Given the description of an element on the screen output the (x, y) to click on. 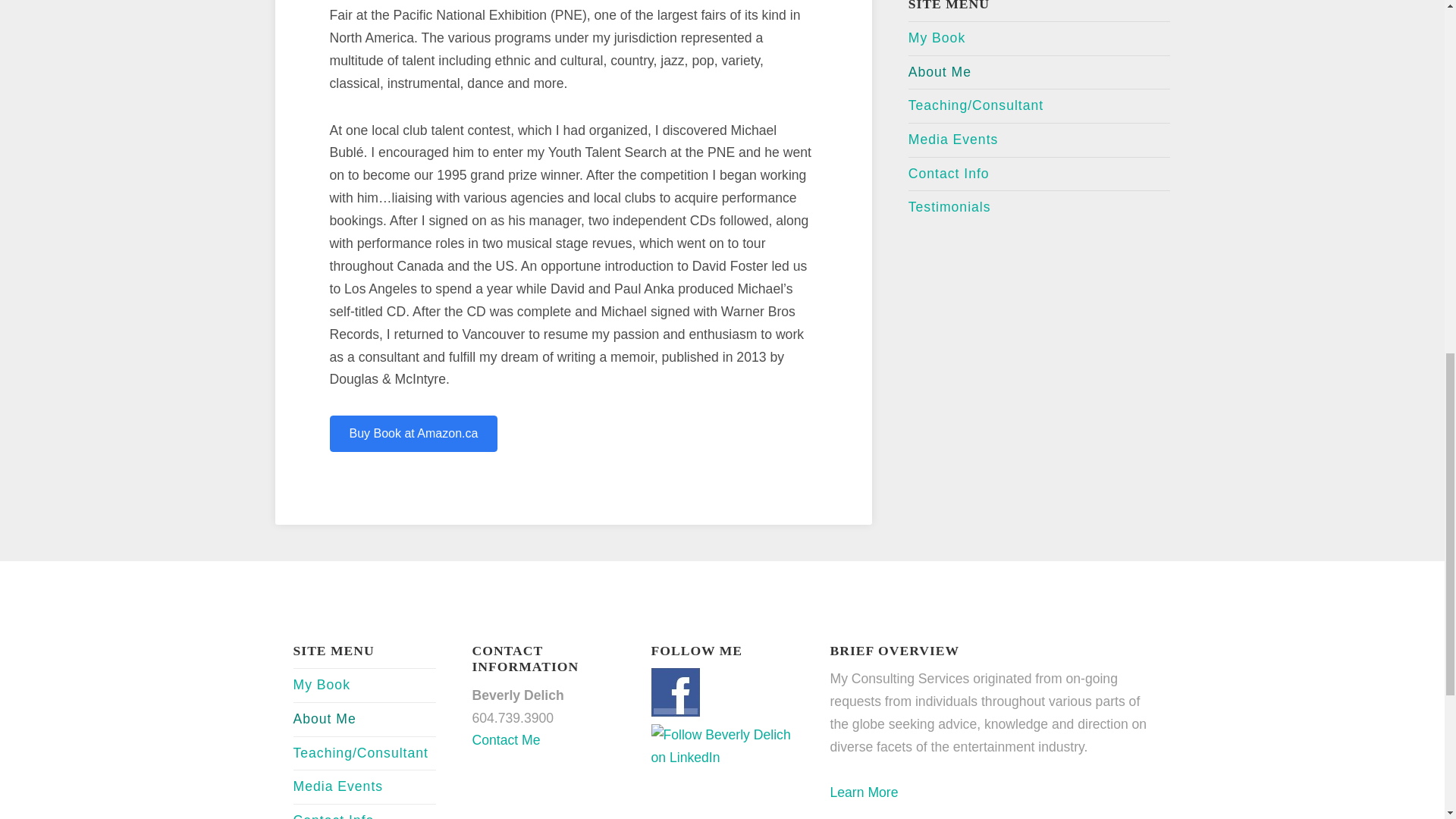
Media Events (953, 139)
Beverly Delich and Michael Buble (936, 38)
Media Events (337, 786)
Contact Me (505, 739)
About Me (939, 72)
Contact Info (949, 174)
About Me (323, 719)
My Book (320, 685)
Contact Info (333, 814)
My Book (936, 38)
